Given the description of an element on the screen output the (x, y) to click on. 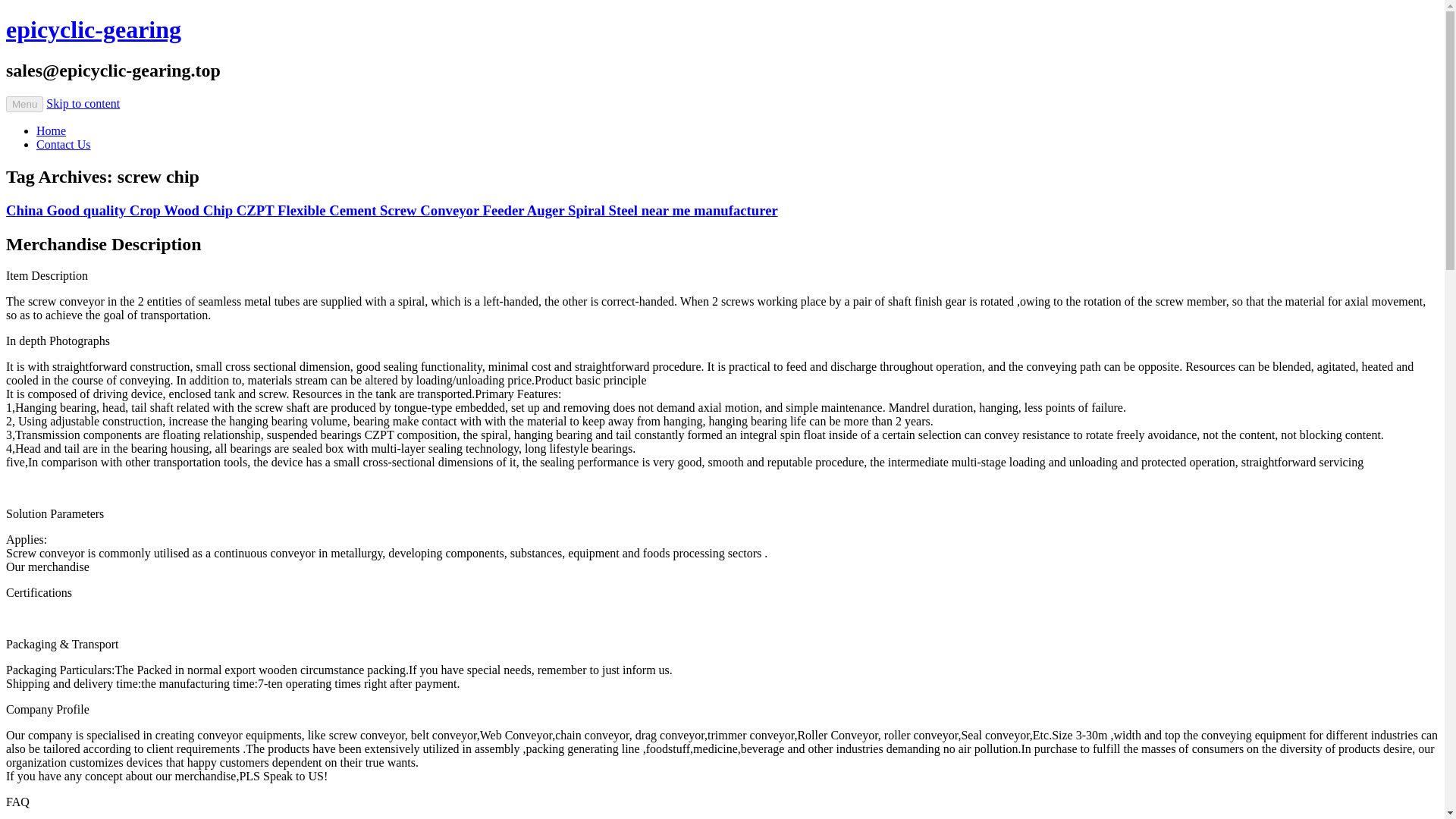
Skip to content (82, 103)
Home (50, 130)
epicyclic-gearing (92, 29)
Menu (24, 104)
Contact Us (63, 144)
